Given the description of an element on the screen output the (x, y) to click on. 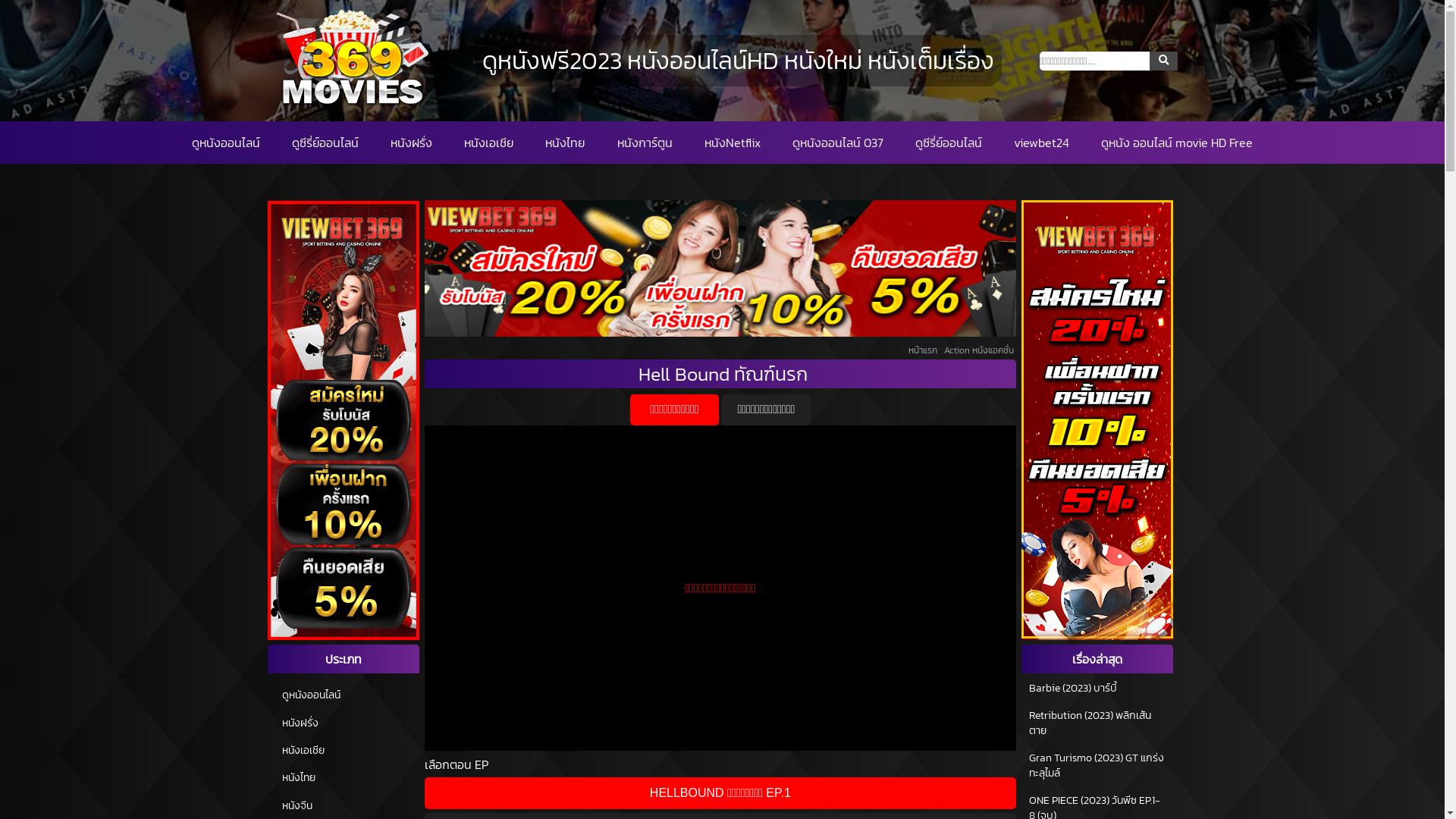
viewbet24 Element type: text (1041, 142)
